Given the description of an element on the screen output the (x, y) to click on. 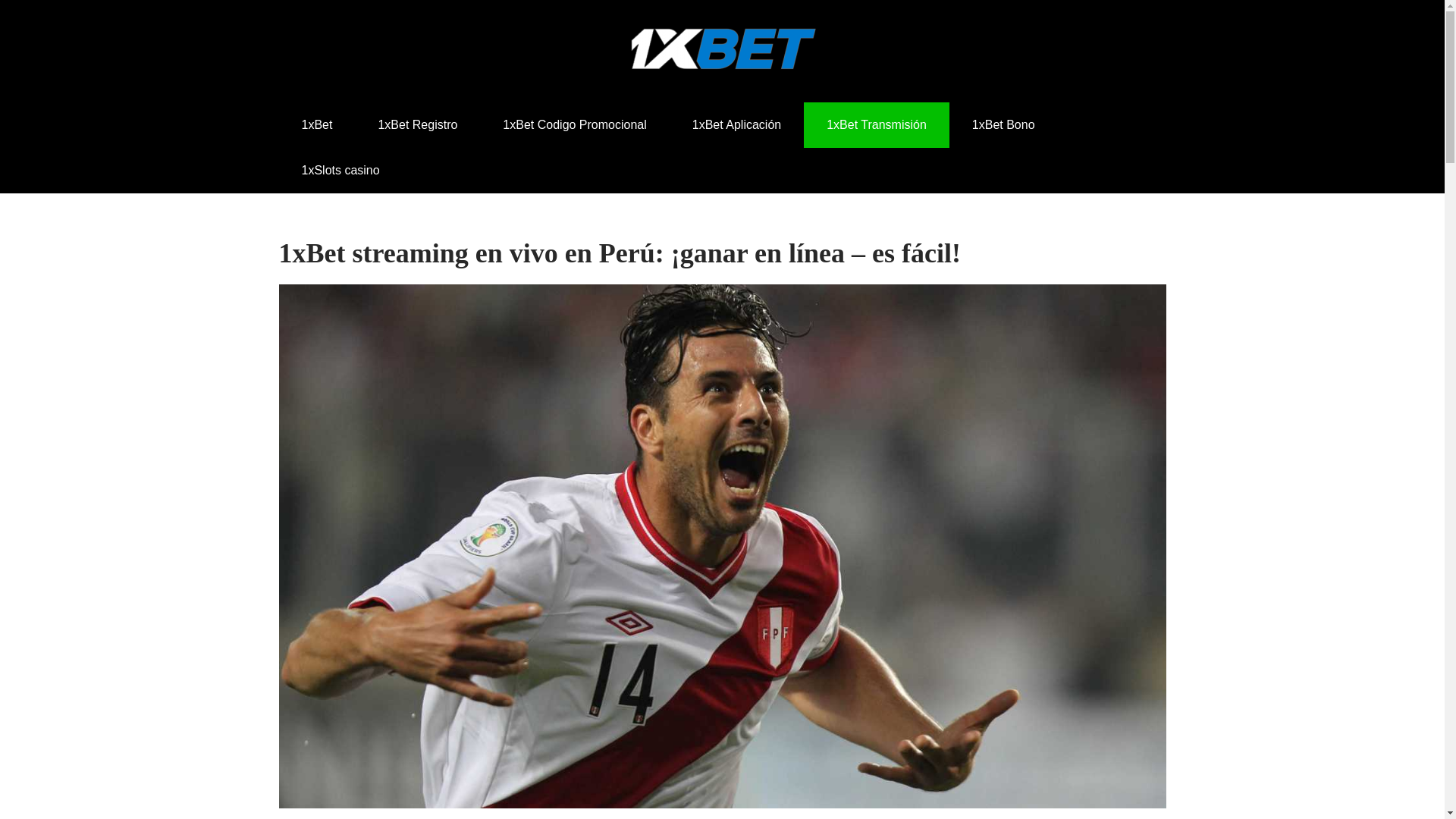
1xBet Bono Element type: text (1003, 124)
1xBet Codigo Promocional Element type: text (574, 124)
1xSlots casino Element type: text (340, 170)
1xBet Element type: text (317, 124)
1xBet Registro Element type: text (417, 124)
